Given the description of an element on the screen output the (x, y) to click on. 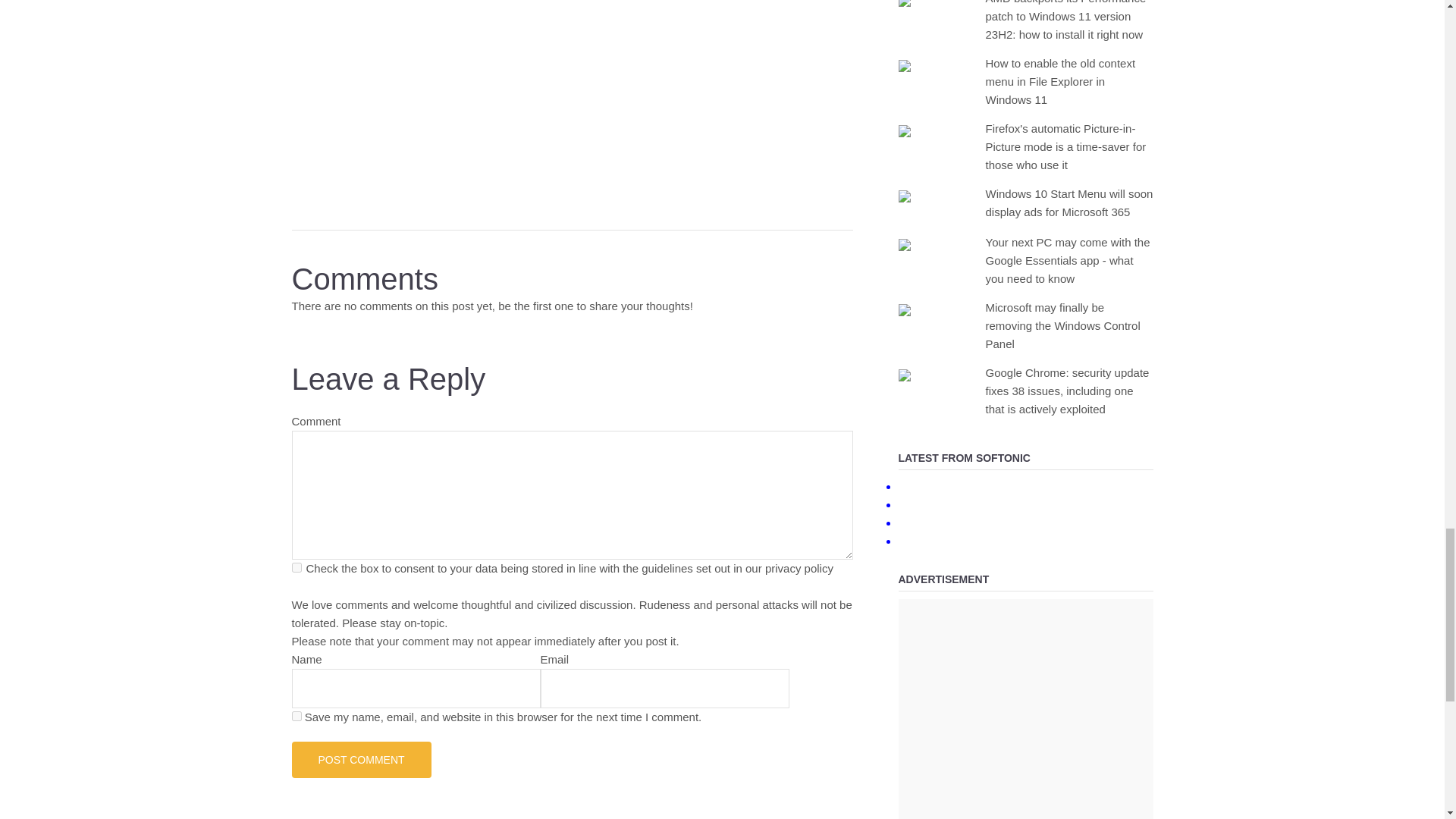
Post Comment (360, 760)
privacy-key (296, 567)
yes (296, 716)
